Given the description of an element on the screen output the (x, y) to click on. 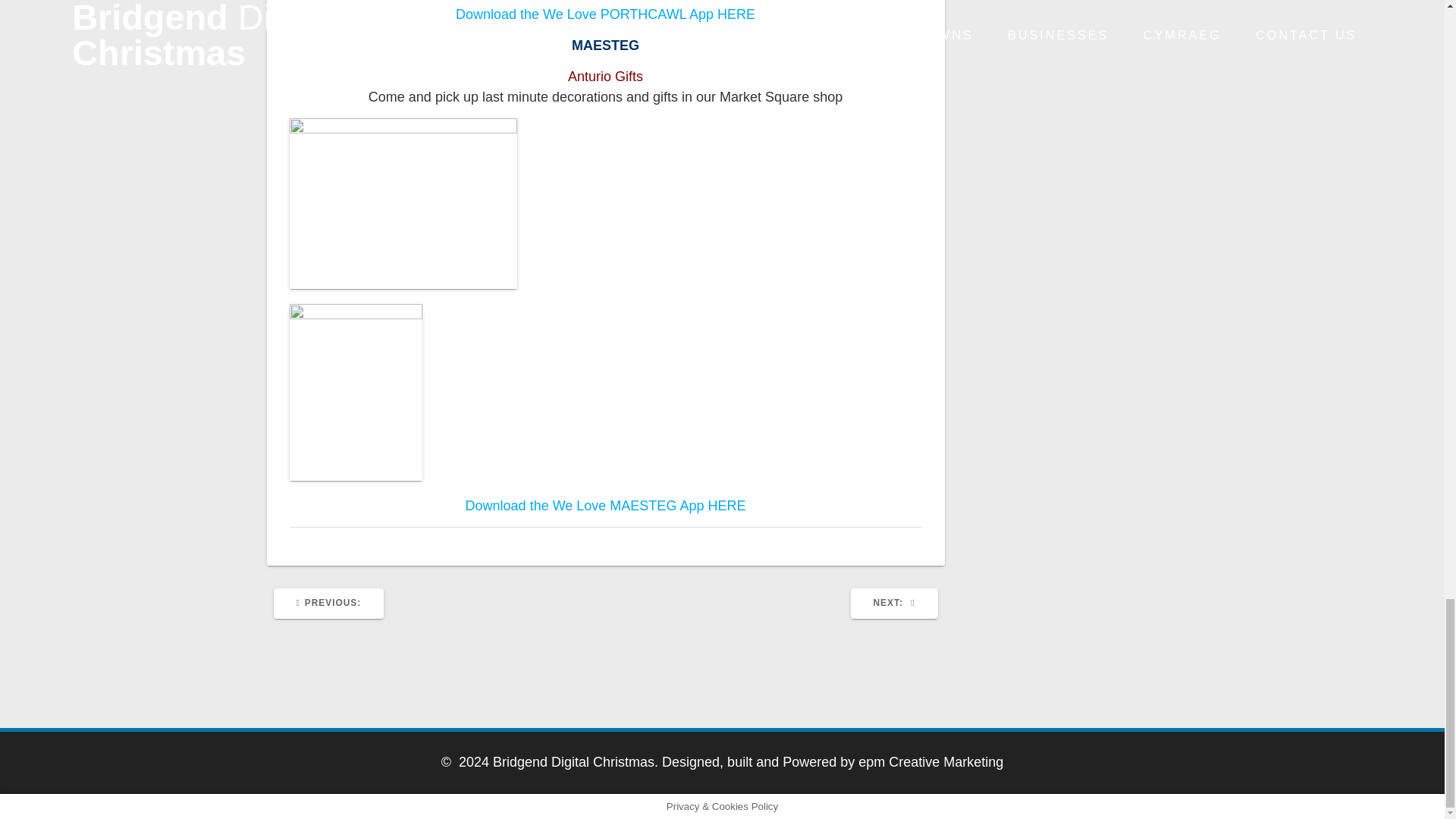
Download the We Love MAESTEG App HERE (328, 603)
Anturio Gifts (605, 505)
Download the We Love PORTHCAWL App HERE (893, 603)
